Given the description of an element on the screen output the (x, y) to click on. 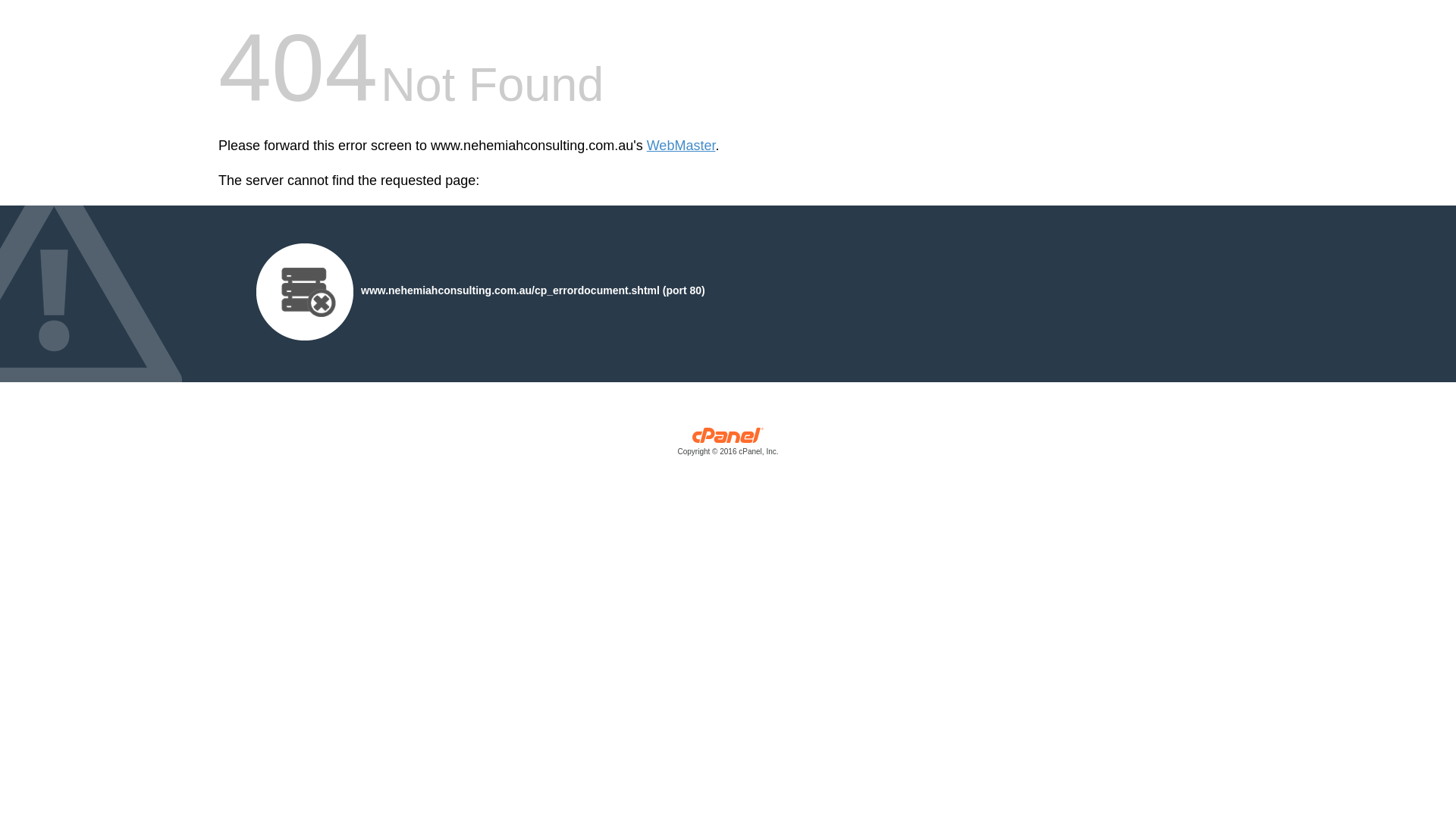
WebMaster Element type: text (680, 145)
